Given the description of an element on the screen output the (x, y) to click on. 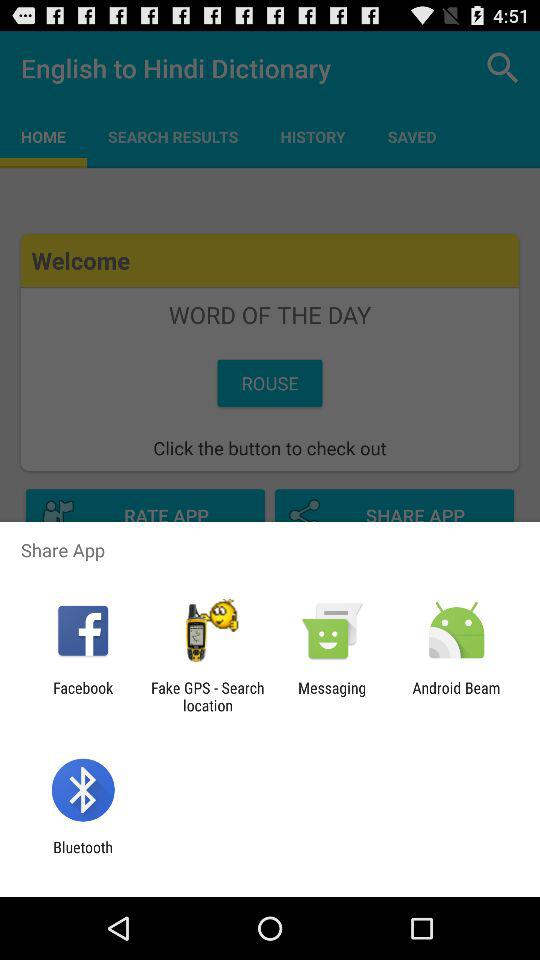
turn off the app to the left of the messaging icon (207, 696)
